Given the description of an element on the screen output the (x, y) to click on. 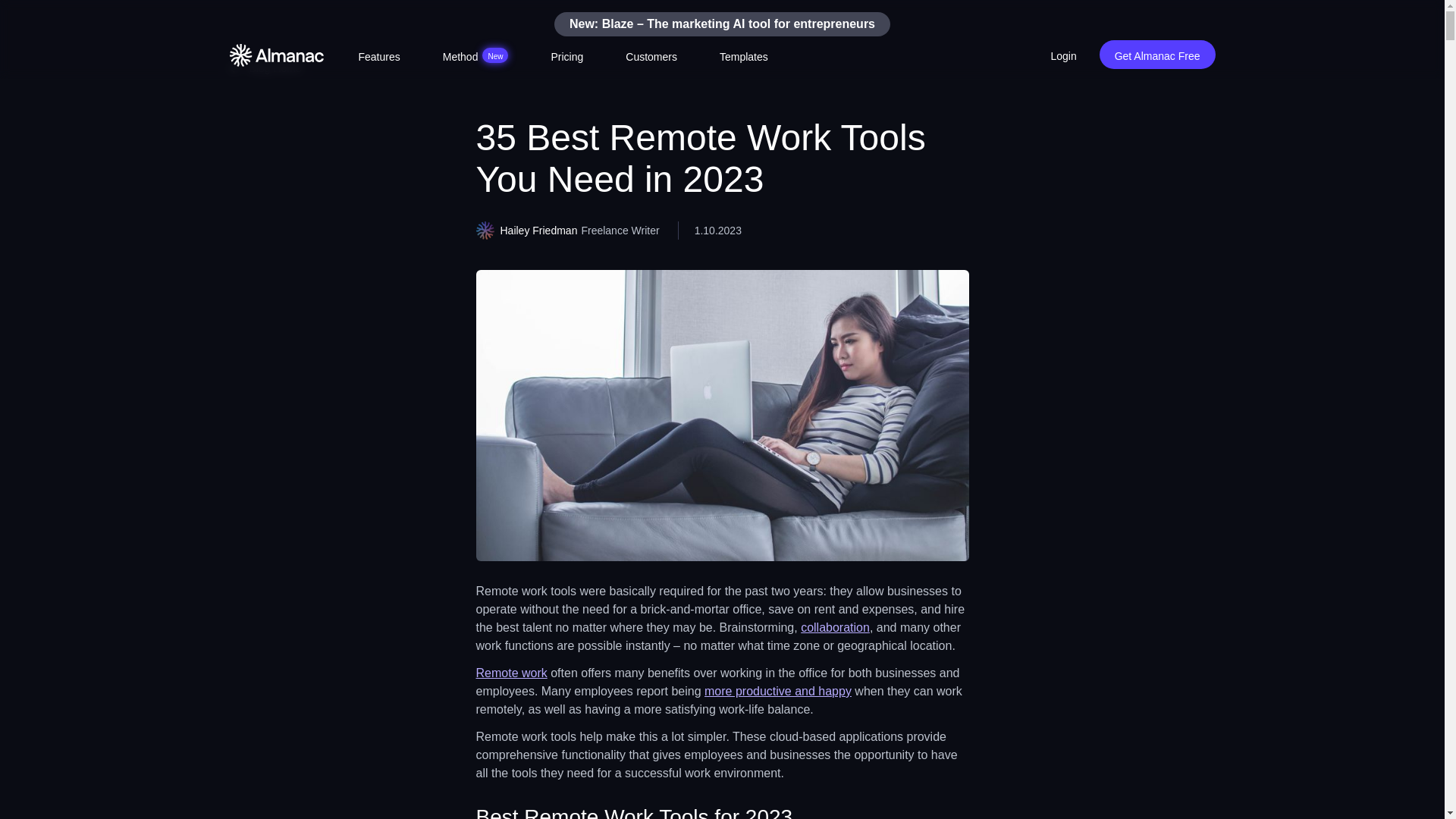
Blog Home (264, 68)
Remote work (476, 55)
Get Almanac Free (511, 672)
Pricing (1157, 54)
Login (566, 55)
Features (1062, 55)
collaboration (378, 55)
more productive and happy (834, 626)
Customers (777, 690)
Templates (651, 55)
